Given the description of an element on the screen output the (x, y) to click on. 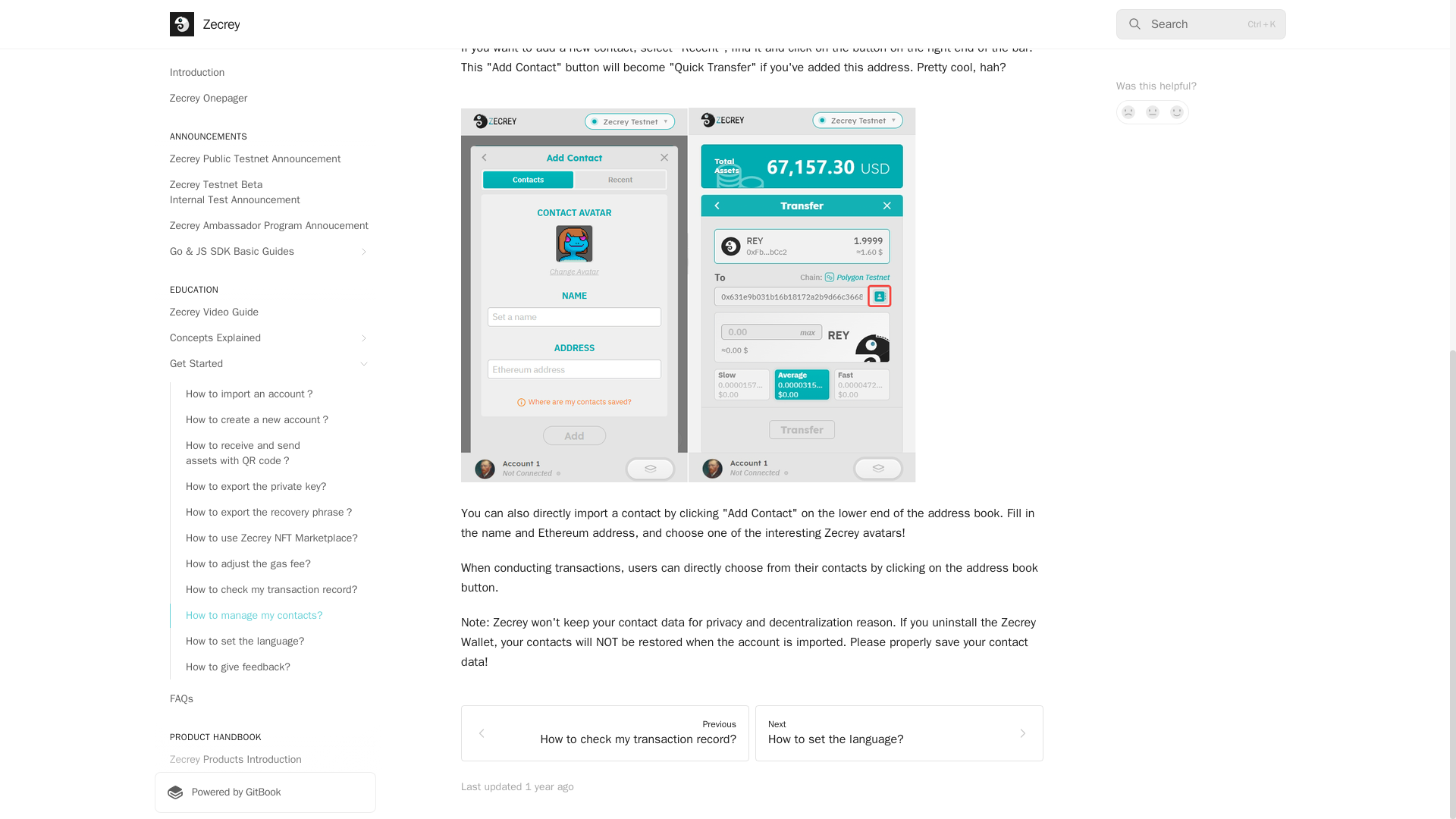
Was this helpful? (1200, 91)
